Given the description of an element on the screen output the (x, y) to click on. 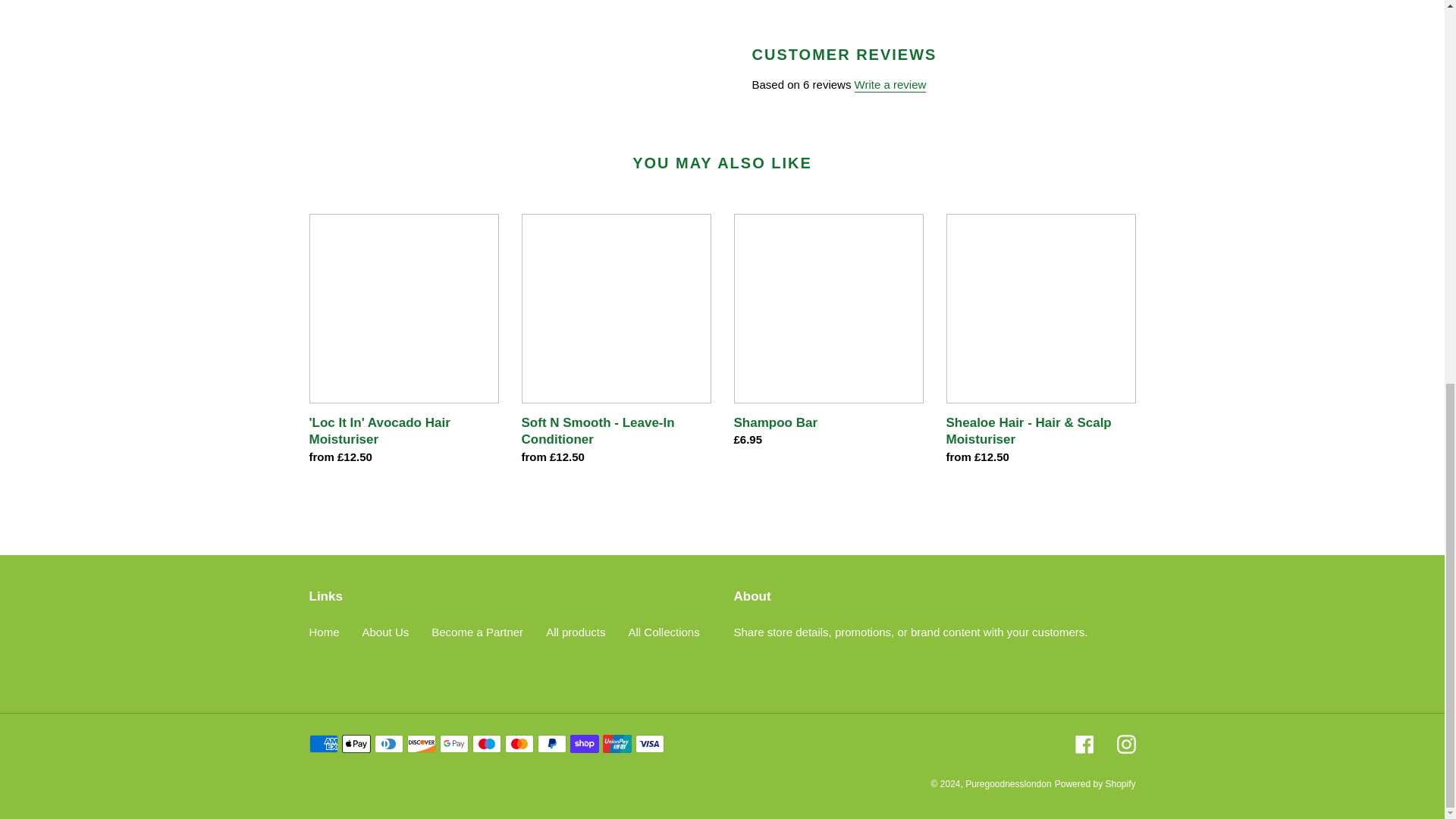
Instagram (1125, 743)
About Us (385, 631)
Facebook (1084, 743)
Become a Partner (476, 631)
All Collections (662, 631)
Write a review (890, 84)
Home (323, 631)
All products (575, 631)
